Given the description of an element on the screen output the (x, y) to click on. 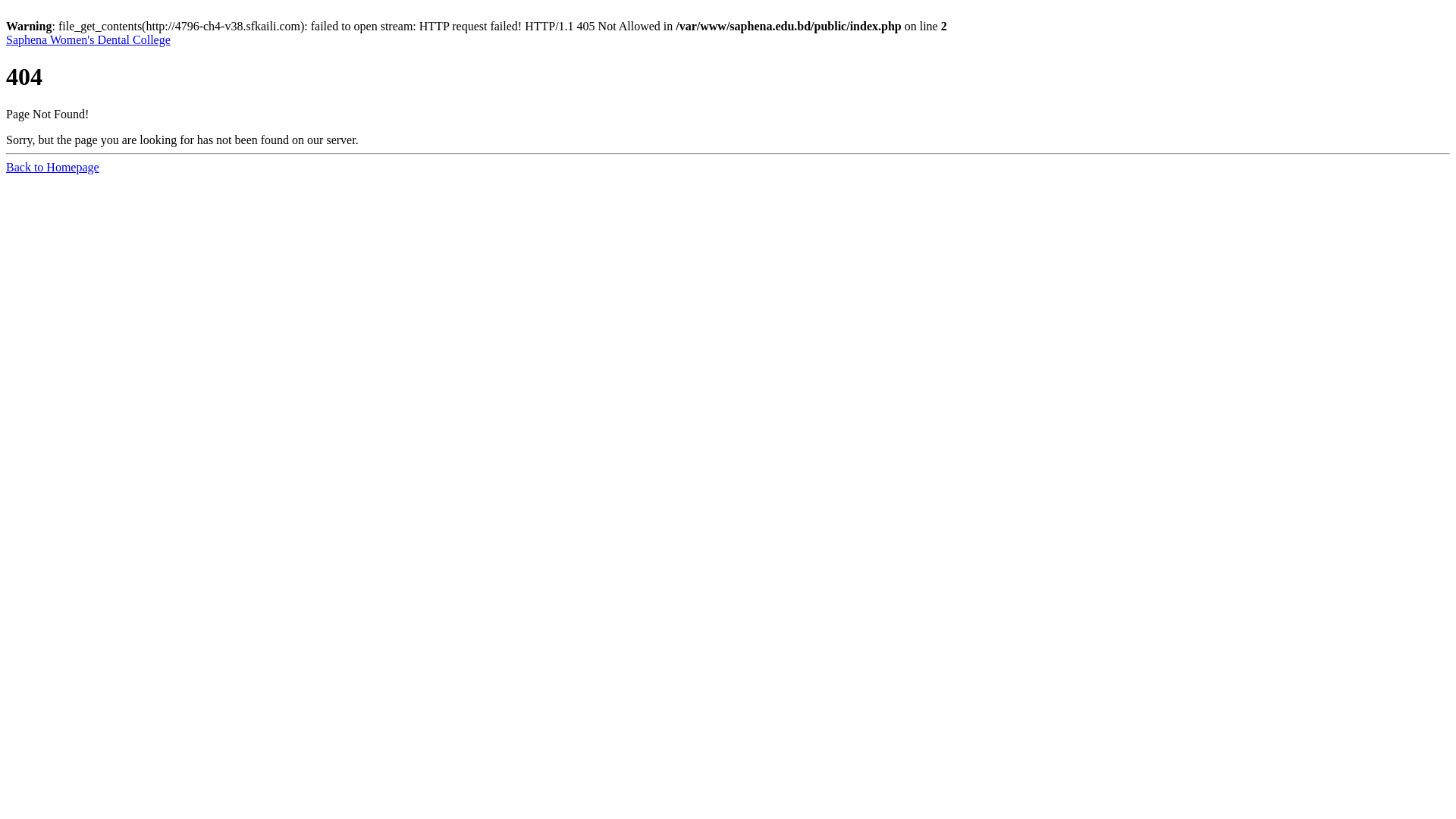
Back to Homepage Element type: text (52, 166)
Saphena Women's Dental College Element type: text (88, 39)
